Given the description of an element on the screen output the (x, y) to click on. 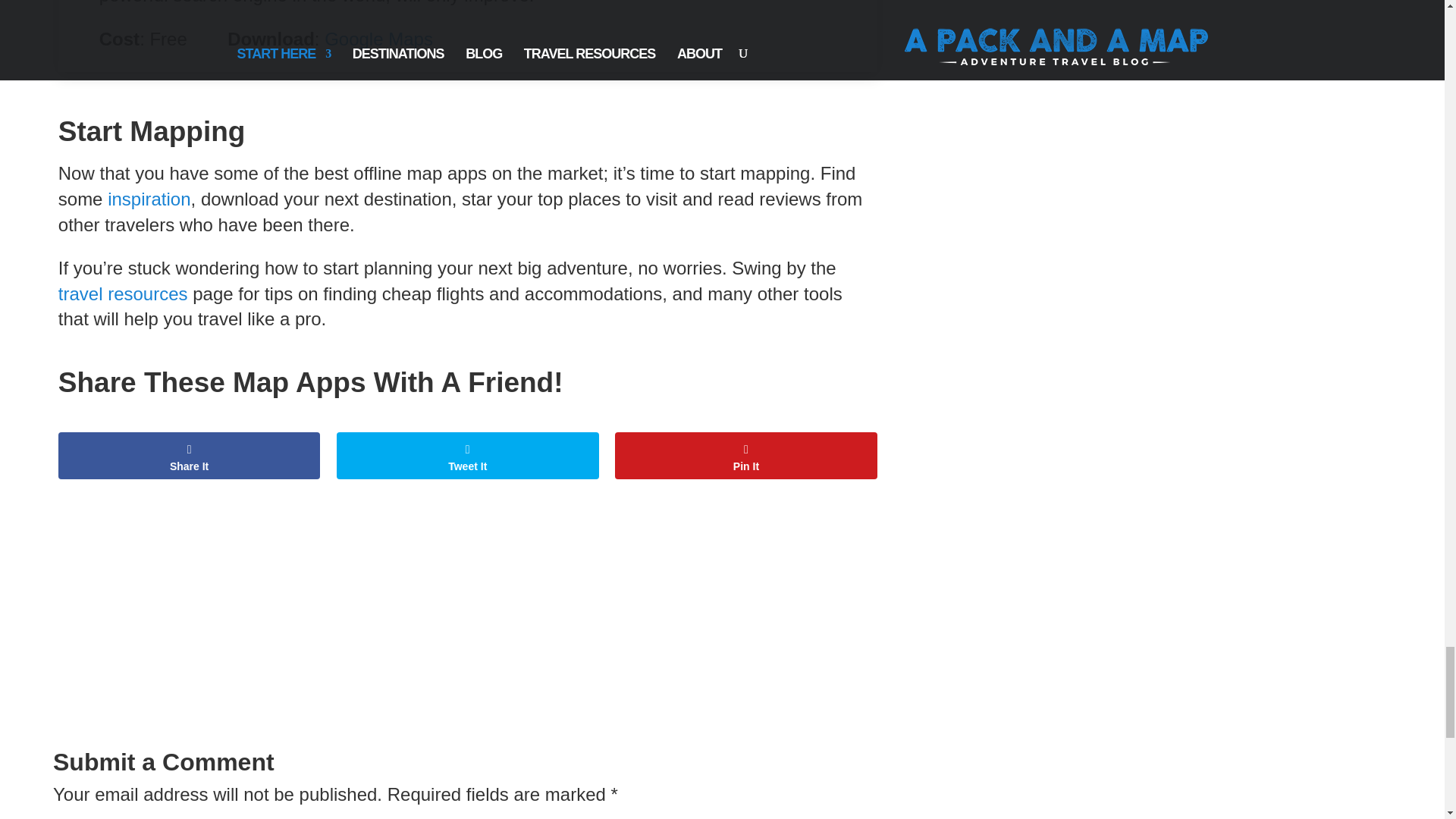
Google Maps (378, 38)
travel resources (122, 293)
inspiration (148, 199)
